Given the description of an element on the screen output the (x, y) to click on. 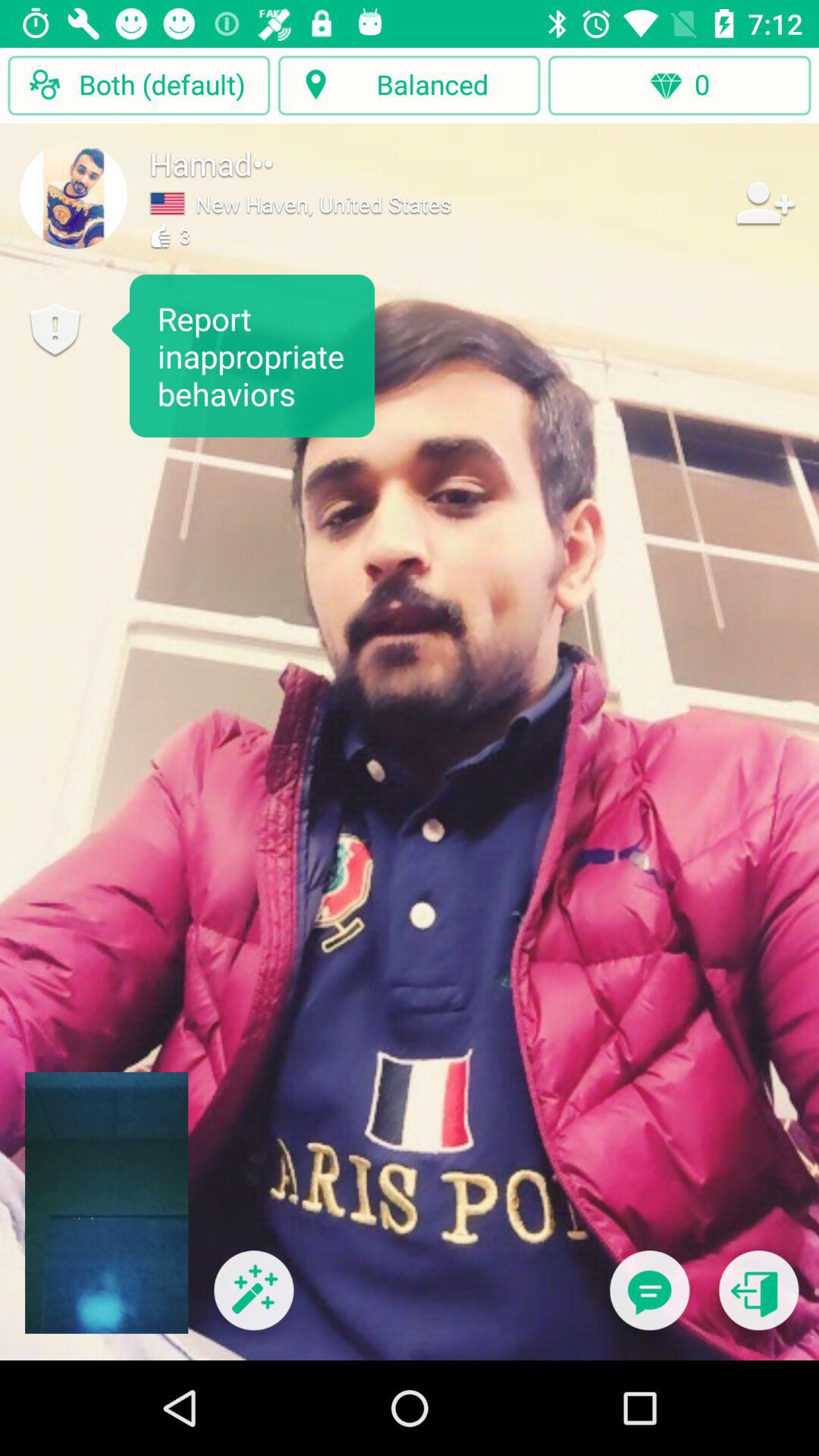
select item to the right of new haven united item (763, 202)
